Given the description of an element on the screen output the (x, y) to click on. 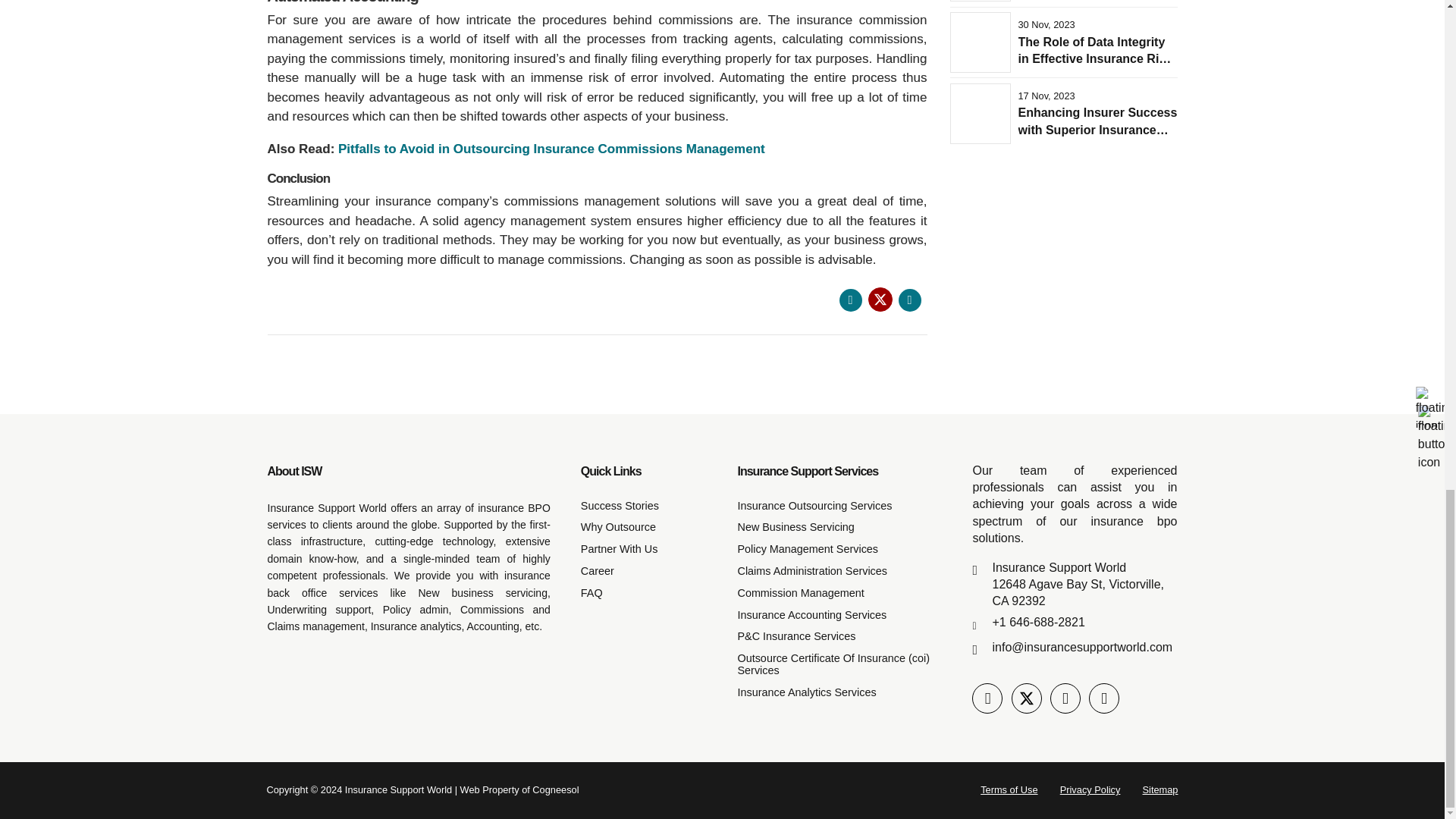
Share on Facebook (849, 300)
twitter (1026, 698)
Share on Twitter (879, 299)
Share on Linkedin (909, 300)
facebook (987, 698)
